Given the description of an element on the screen output the (x, y) to click on. 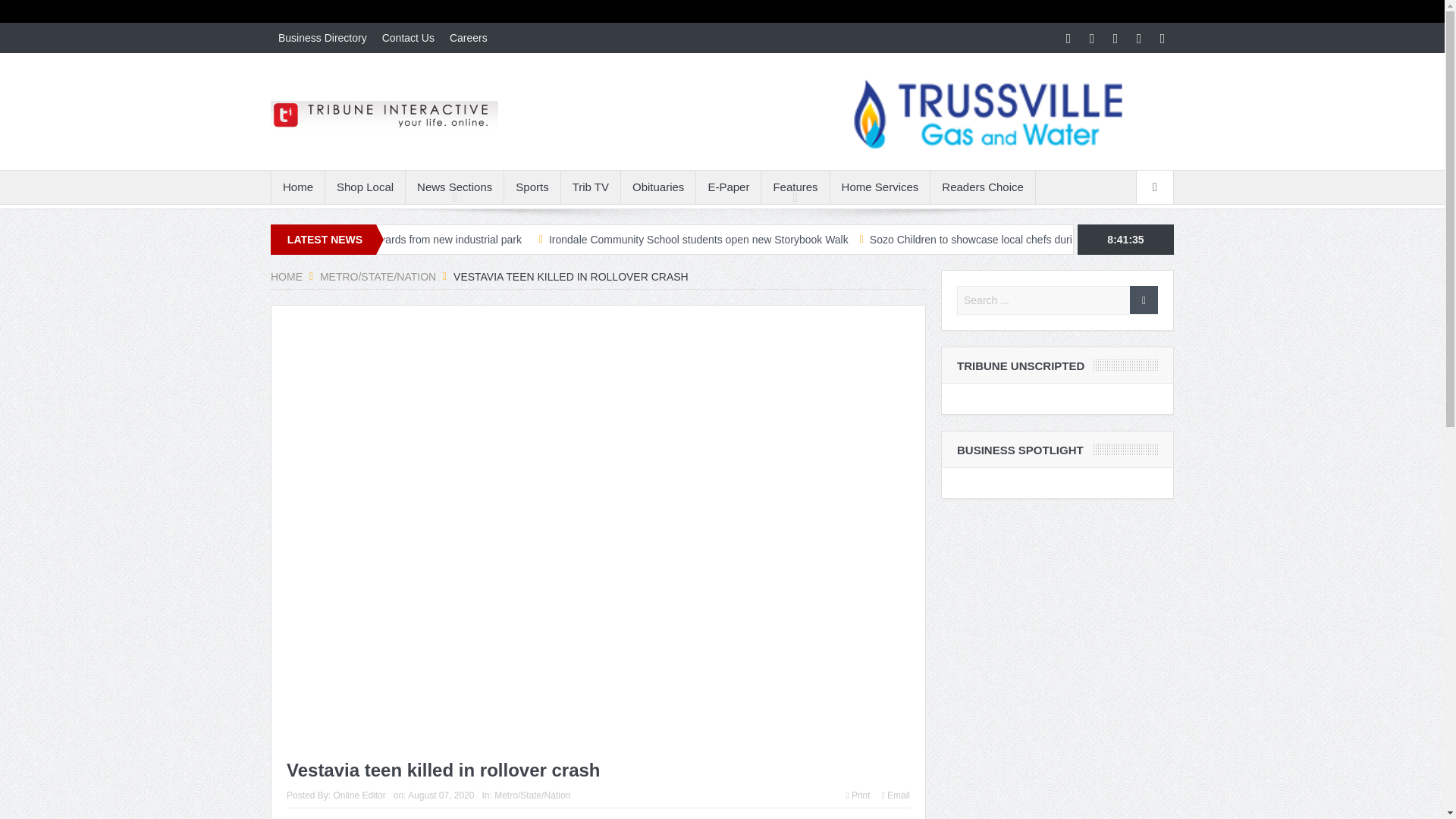
News Sections (454, 186)
Obituaries (658, 186)
Business Directory (322, 37)
Features (794, 186)
Shop Local (364, 186)
Trib TV (590, 186)
Home Services (879, 186)
E-Paper (727, 186)
Careers (468, 37)
Sports (531, 186)
